Given the description of an element on the screen output the (x, y) to click on. 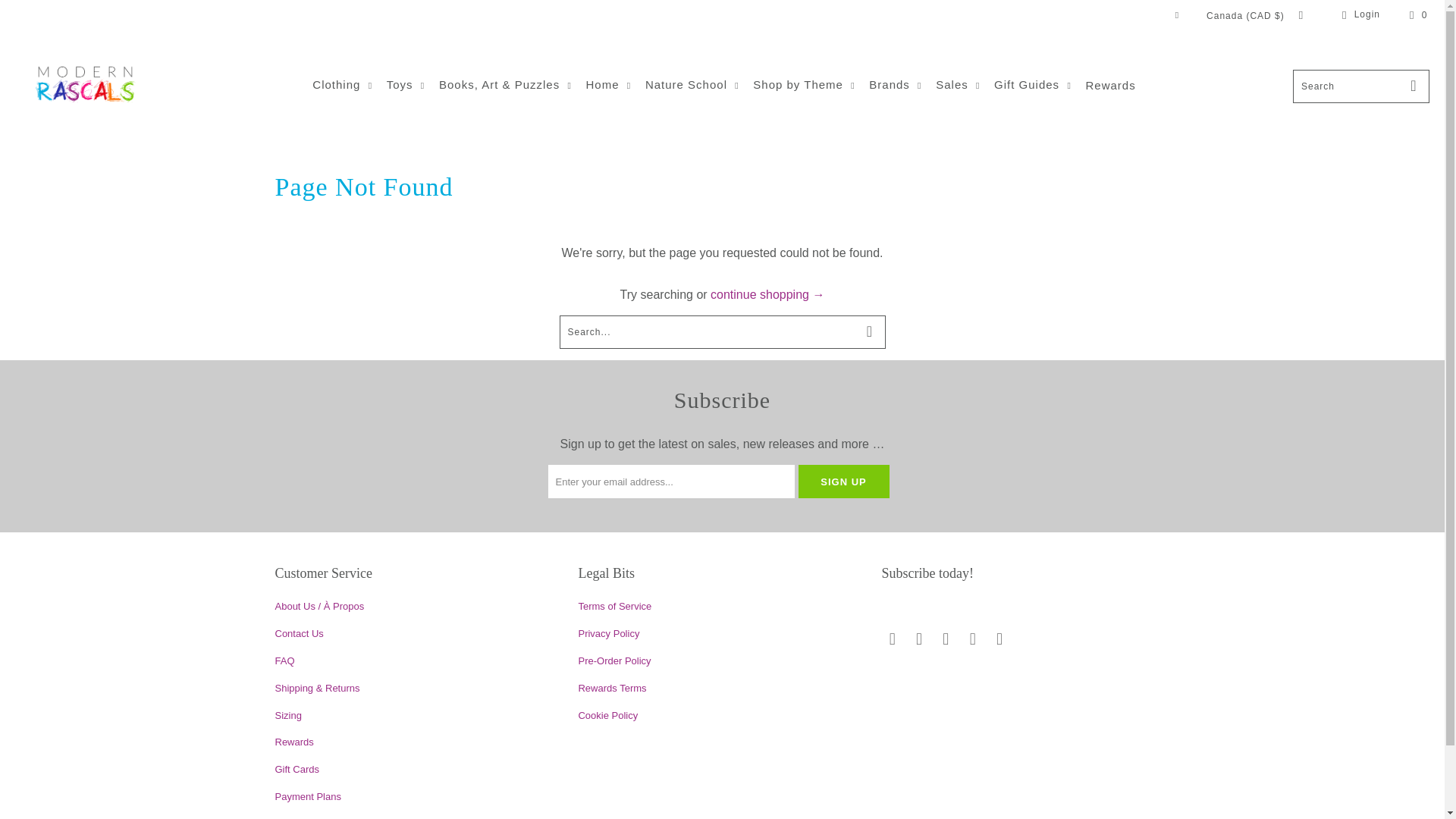
Modern Rascals (84, 85)
Modern Rascals on YouTube (999, 638)
My Account  (1358, 14)
Modern Rascals on Facebook (919, 638)
Modern Rascals on Pinterest (972, 638)
Modern Rascals on Instagram (946, 638)
Email Modern Rascals (892, 638)
Sign Up (842, 481)
